Given the description of an element on the screen output the (x, y) to click on. 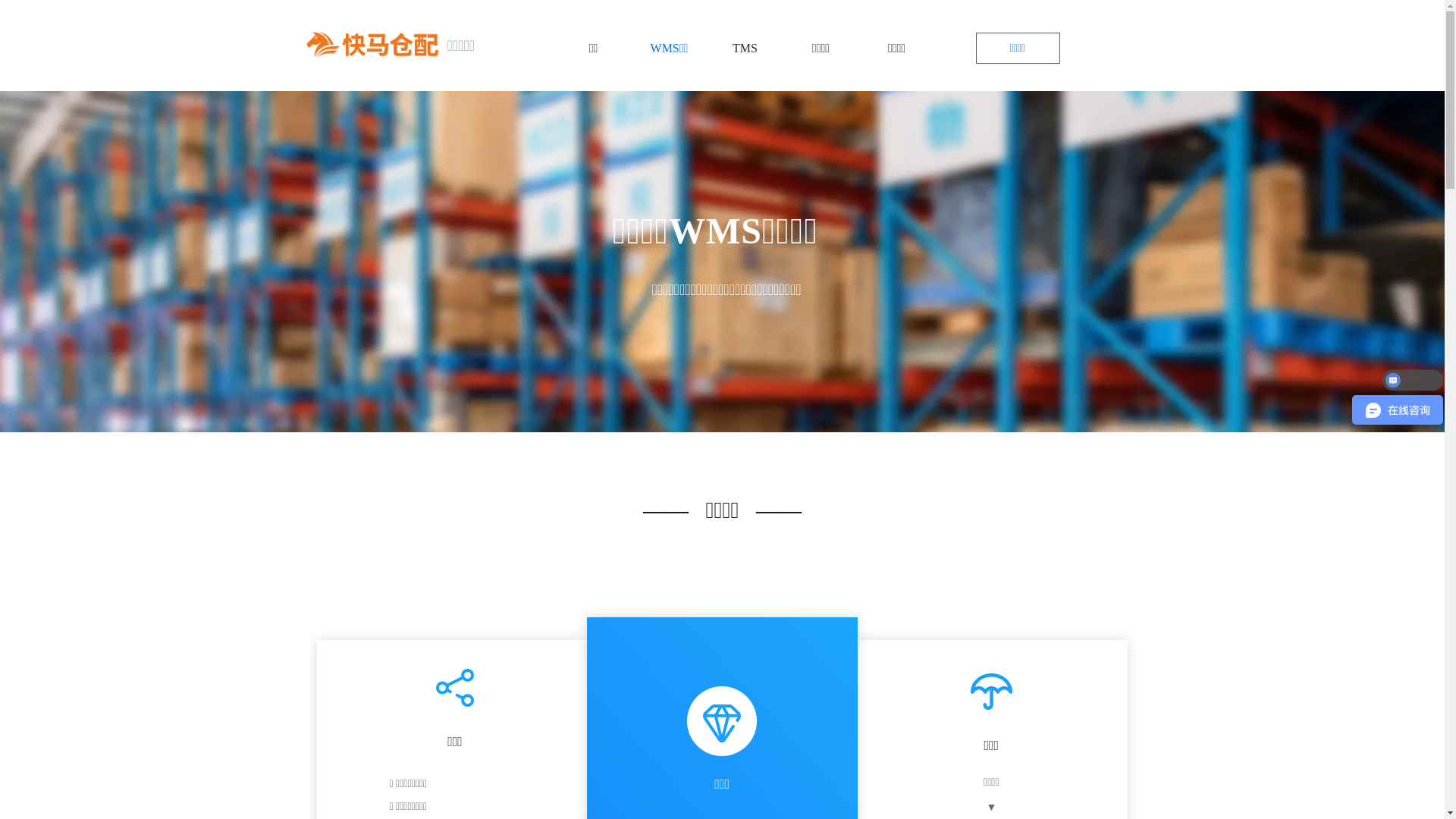
TMS Element type: text (744, 48)
TMS Element type: text (744, 48)
